Given the description of an element on the screen output the (x, y) to click on. 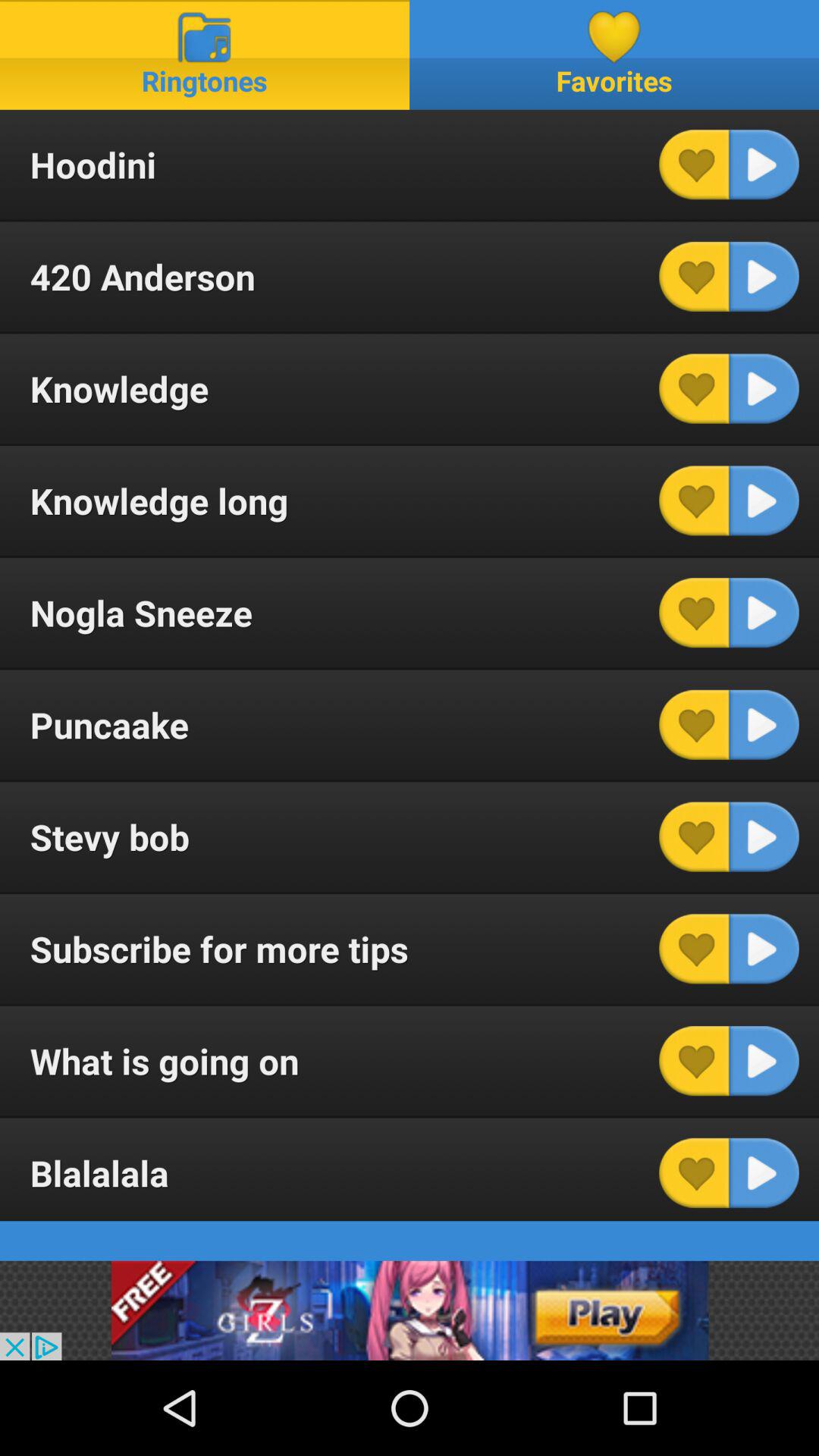
love this section (694, 948)
